Given the description of an element on the screen output the (x, y) to click on. 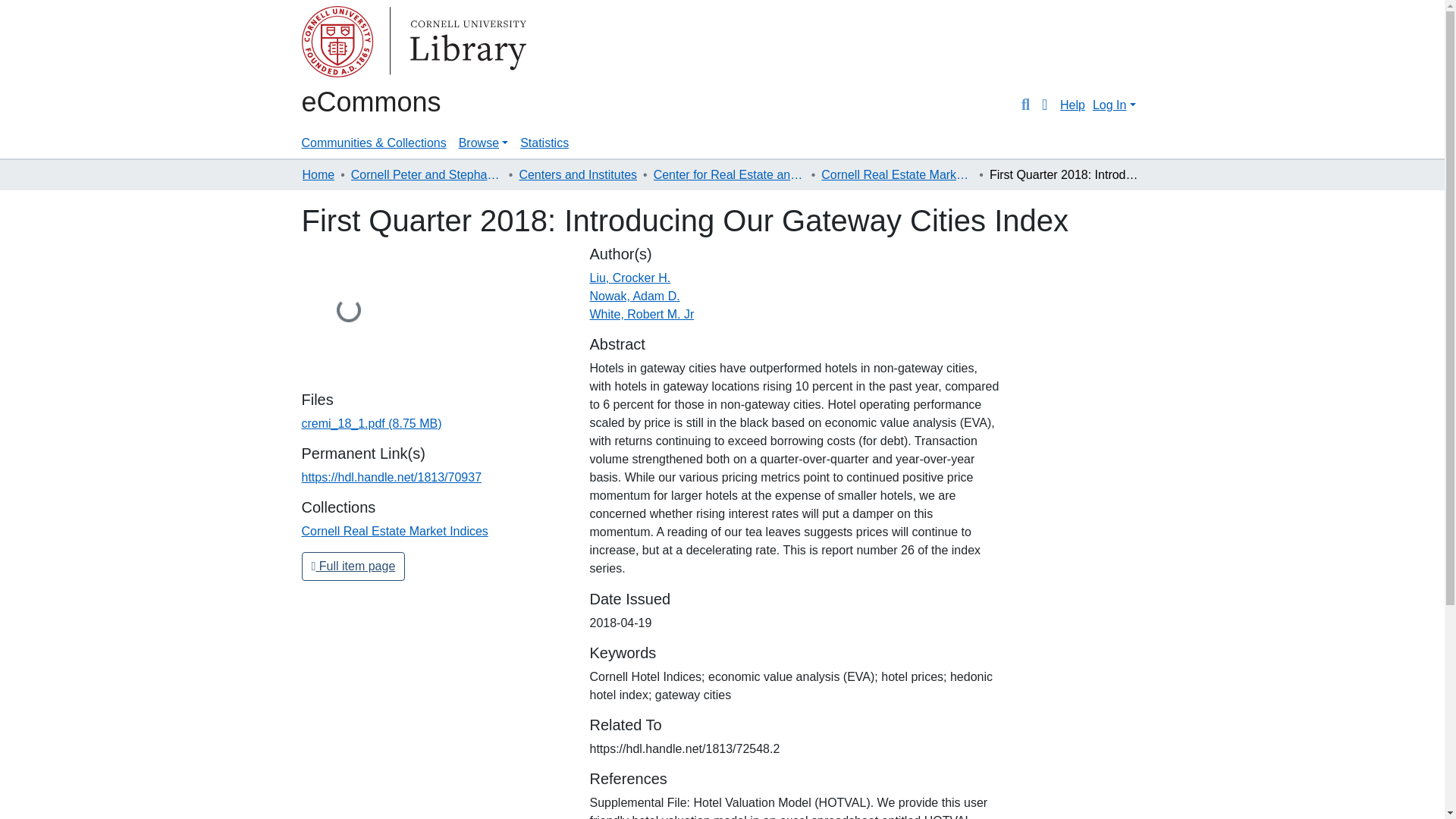
Full item page (353, 566)
Cornell University (339, 43)
Cornell Real Estate Market Indices (896, 175)
Log In (1113, 104)
Statistics (544, 142)
Cornell Real Estate Market Indices (394, 530)
eCommons (371, 101)
Search (1025, 105)
Home (317, 175)
Language switch (1044, 105)
White, Robert M. Jr (641, 314)
Nowak, Adam D. (634, 295)
Center for Real Estate and Finance (729, 175)
Library (362, 43)
Centers and Institutes (577, 175)
